Given the description of an element on the screen output the (x, y) to click on. 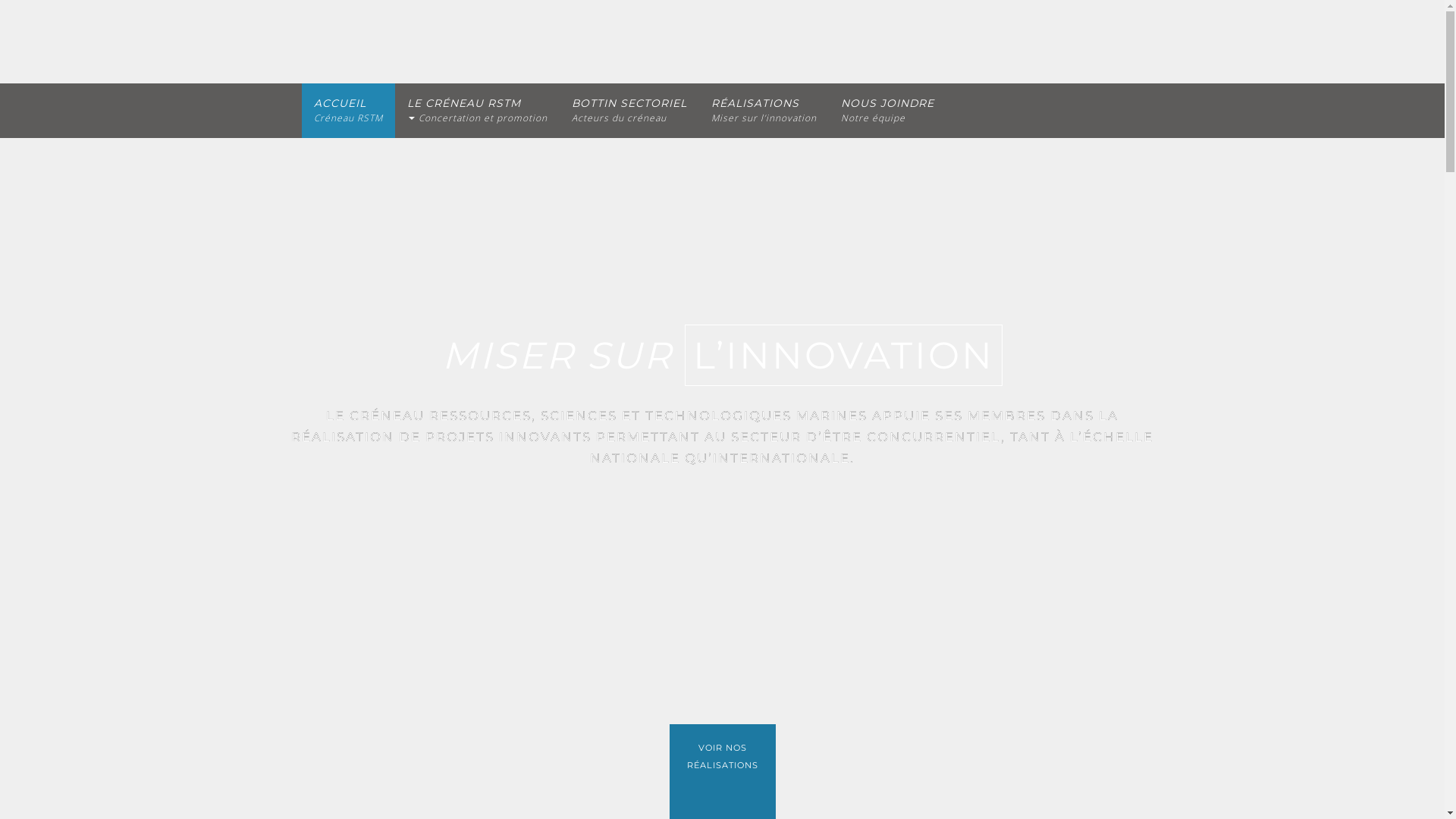
ACCORD - Ressources, sciences et technologies marines Element type: text (413, 41)
Aller au contenu principal Element type: text (0, 0)
